Given the description of an element on the screen output the (x, y) to click on. 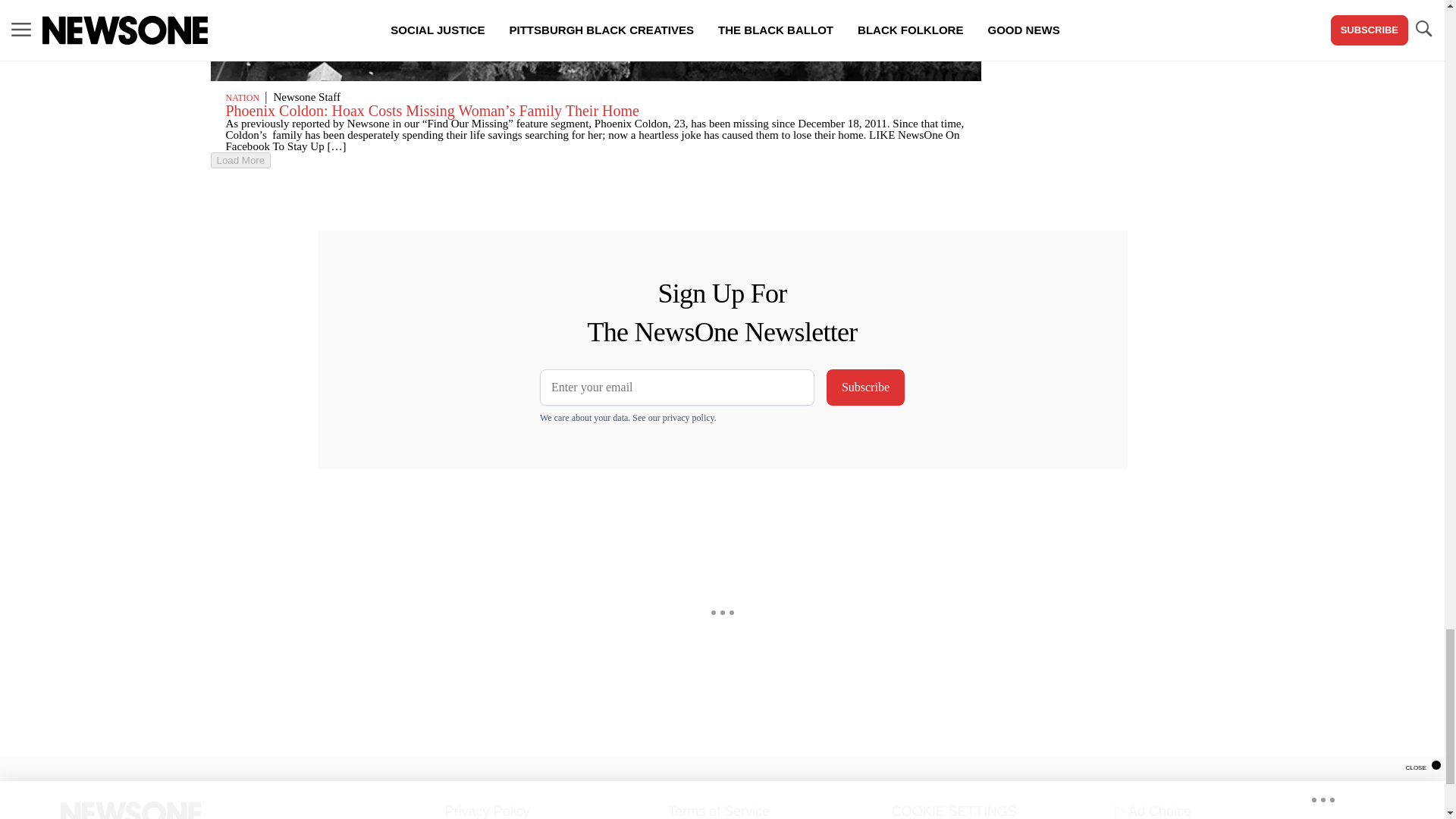
Load More (240, 160)
Load More (240, 160)
NATION (242, 97)
Load More (596, 160)
